Given the description of an element on the screen output the (x, y) to click on. 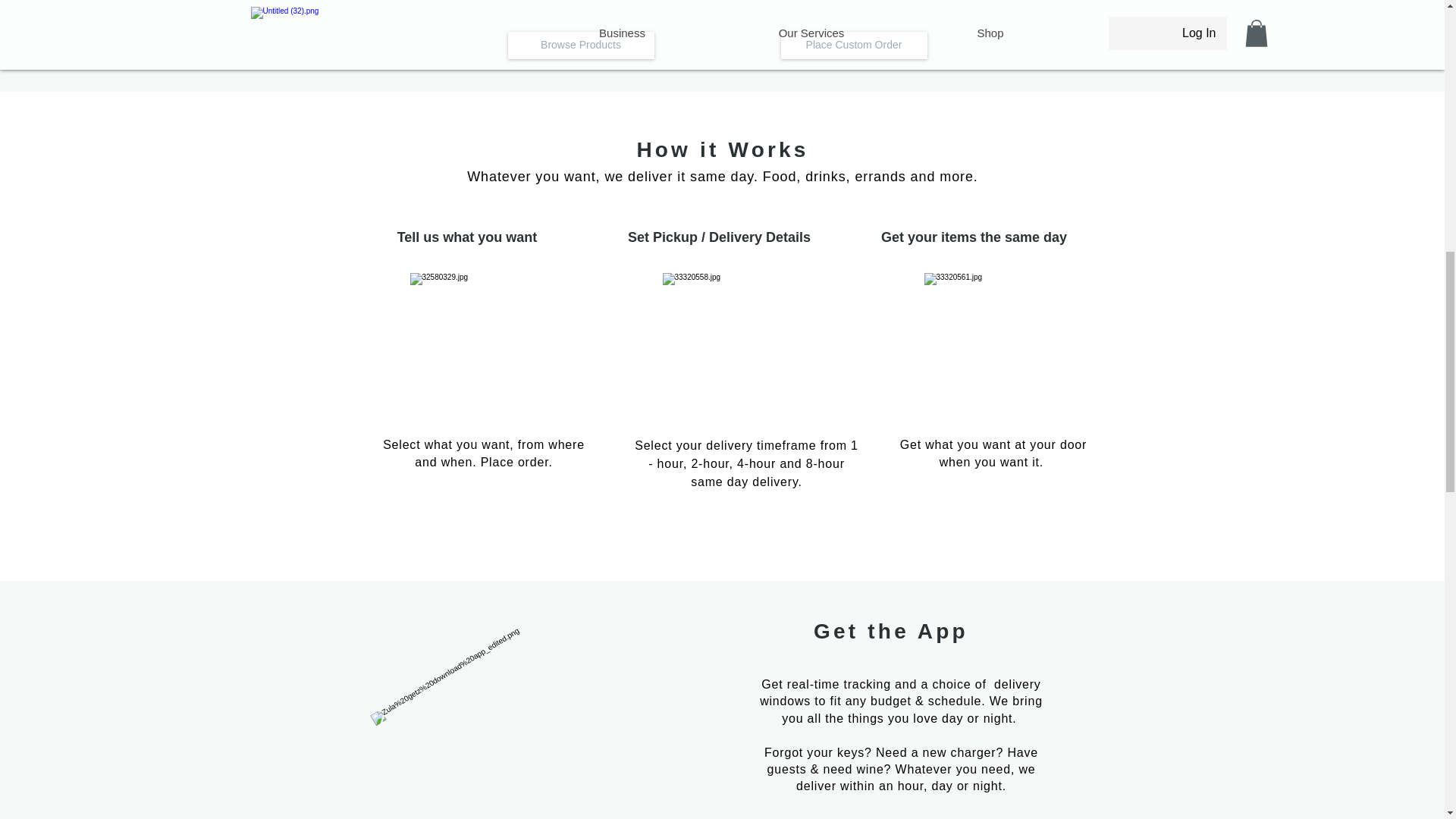
Browse Products (580, 44)
Place Custom Order (853, 44)
